Given the description of an element on the screen output the (x, y) to click on. 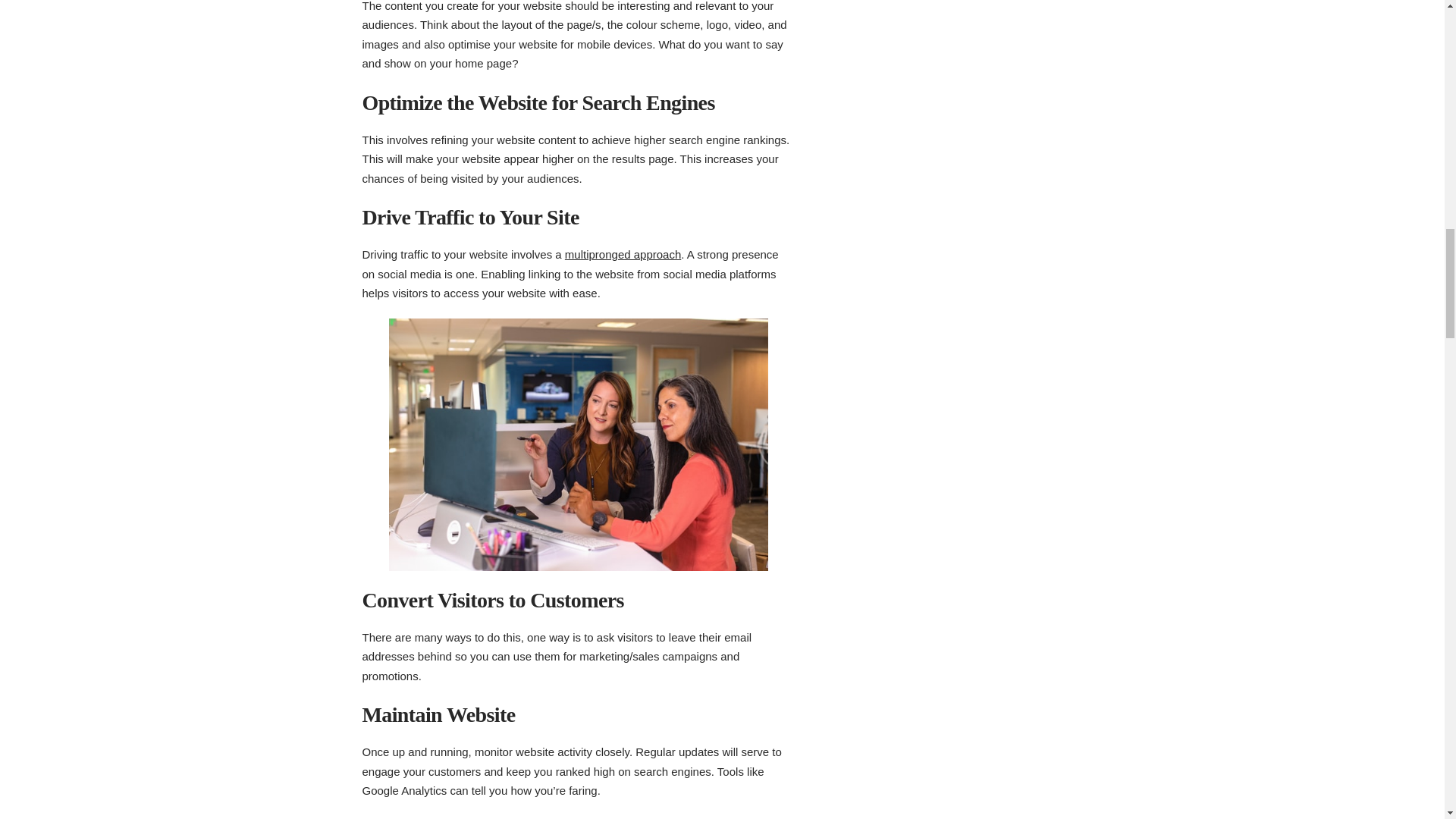
multipronged approach (622, 254)
